Given the description of an element on the screen output the (x, y) to click on. 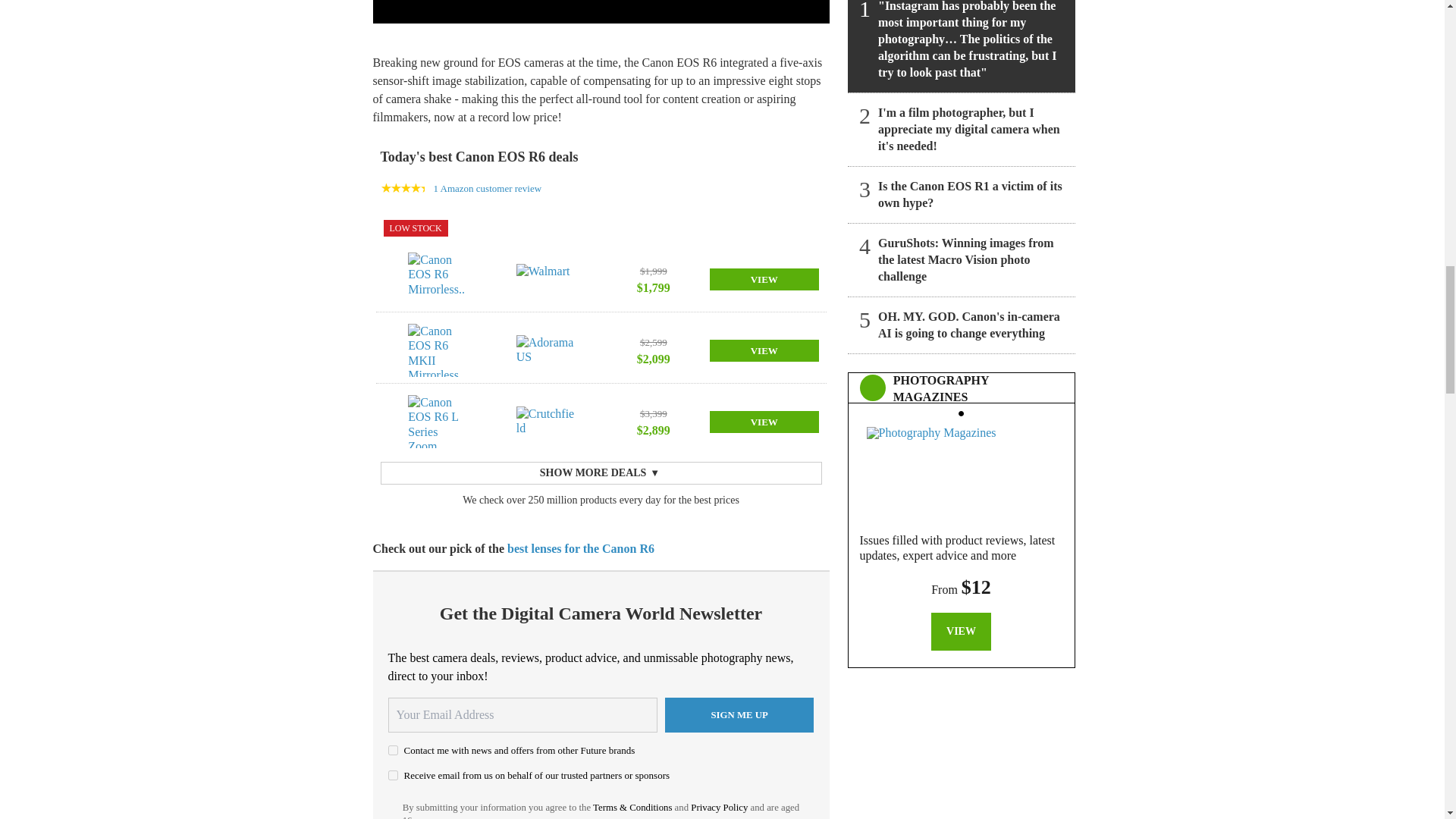
Canon EOS R6 MKII Mirrorless... (437, 349)
Adorama US (546, 349)
Canon EOS R6 Mirrorless... (437, 278)
Crutchfield (546, 421)
Sign me up (739, 714)
Walmart (546, 278)
Low Stock (416, 228)
Photography Magazines (960, 470)
on (392, 775)
Canon EOS R6 L Series Zoom... (437, 420)
on (392, 750)
